Given the description of an element on the screen output the (x, y) to click on. 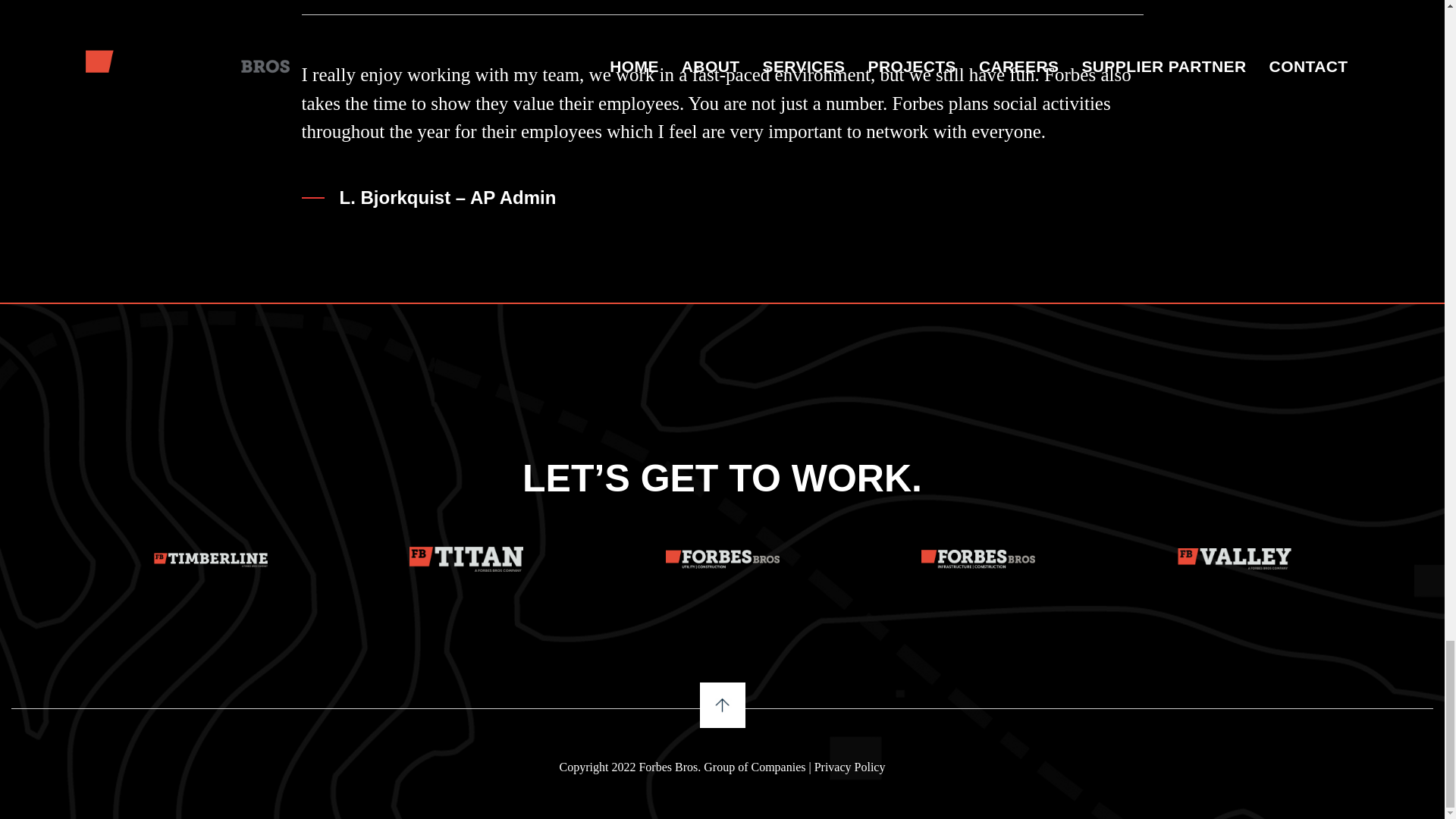
Privacy Policy (849, 766)
Forbes Bros. Group of Companies (722, 766)
